Given the description of an element on the screen output the (x, y) to click on. 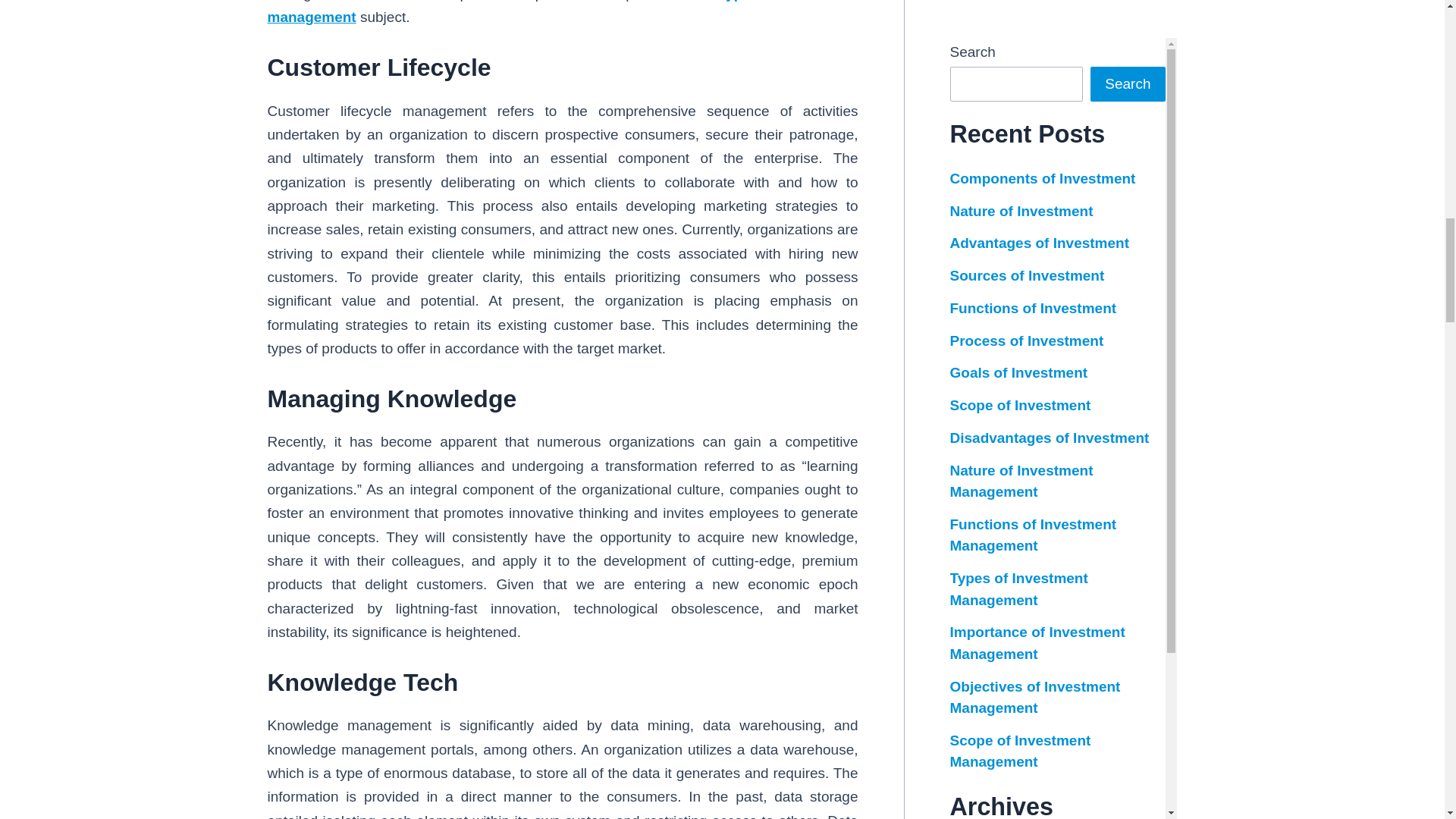
types of business management (561, 12)
